Given the description of an element on the screen output the (x, y) to click on. 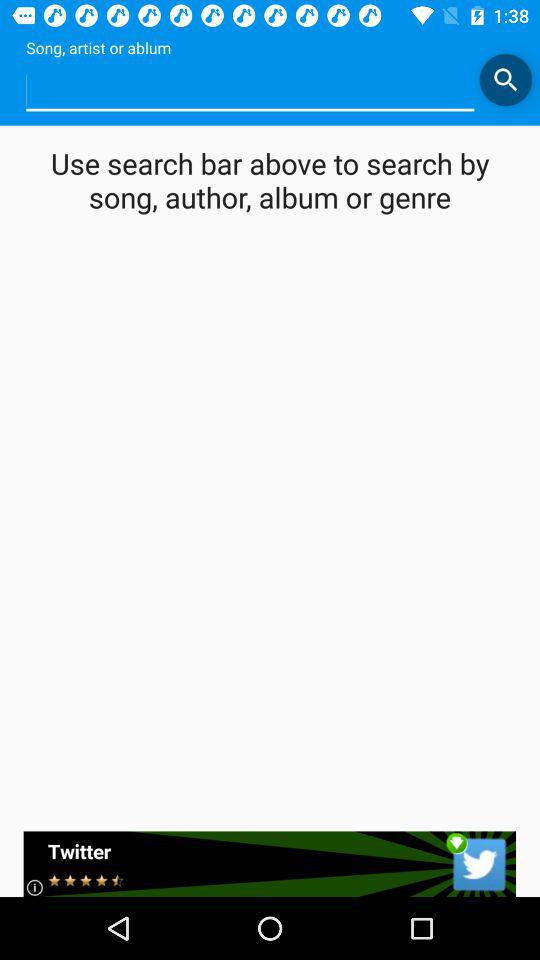
twitter (269, 864)
